Given the description of an element on the screen output the (x, y) to click on. 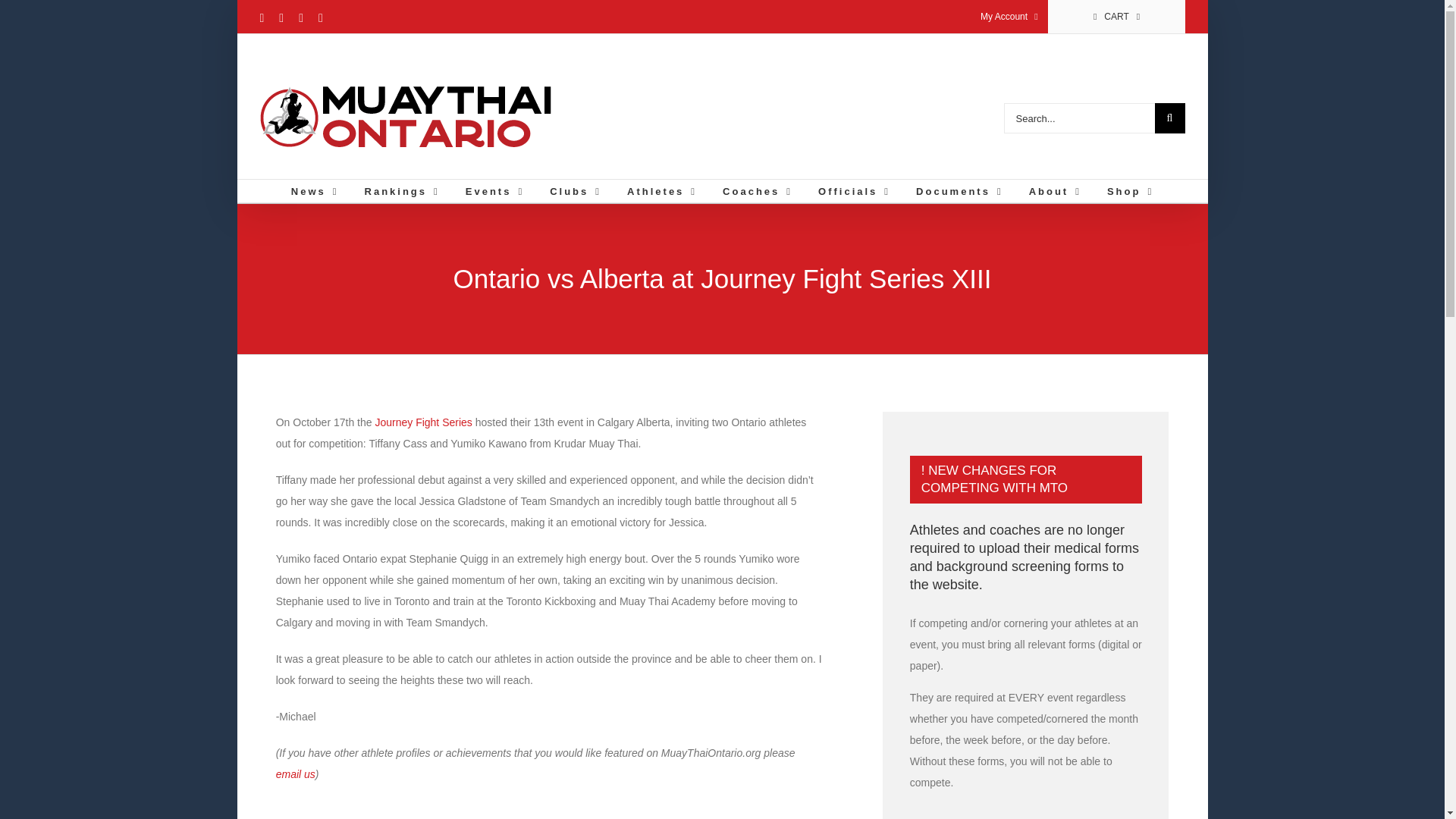
Log In (1050, 161)
Coaches (757, 190)
Clubs (575, 190)
News (315, 190)
My Account (1008, 16)
CART (1116, 16)
Events (494, 190)
Rankings (402, 190)
Athletes (662, 190)
